Given the description of an element on the screen output the (x, y) to click on. 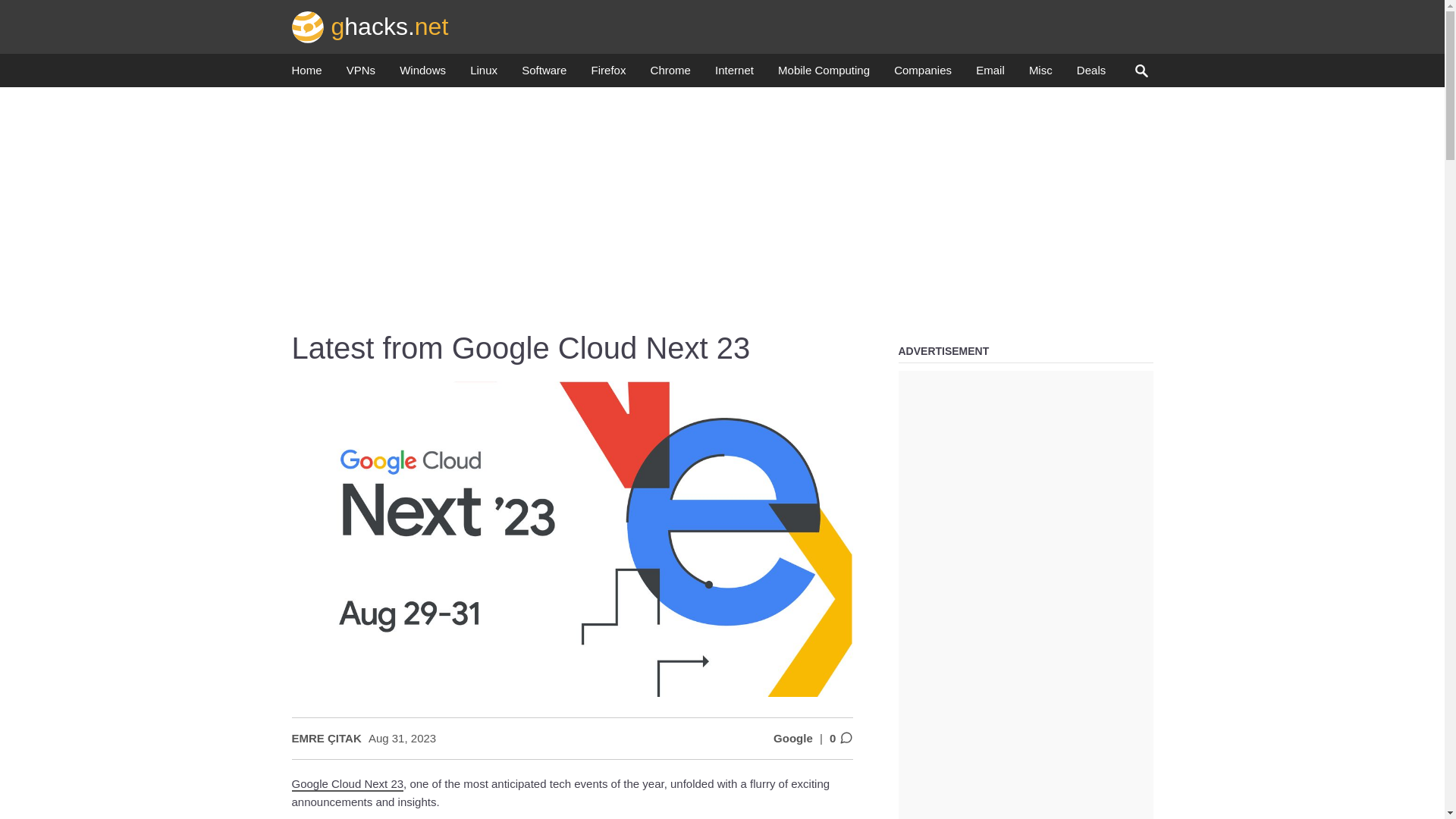
Home (306, 73)
Mobile Computing (823, 73)
Firefox (608, 73)
Misc (1040, 73)
VPNs (360, 73)
Internet (734, 73)
Windows (421, 73)
Deals (1091, 73)
Email (989, 73)
Companies (922, 73)
Software (543, 73)
ghacks.net (369, 26)
Chrome (670, 73)
Linux (483, 73)
